Given the description of an element on the screen output the (x, y) to click on. 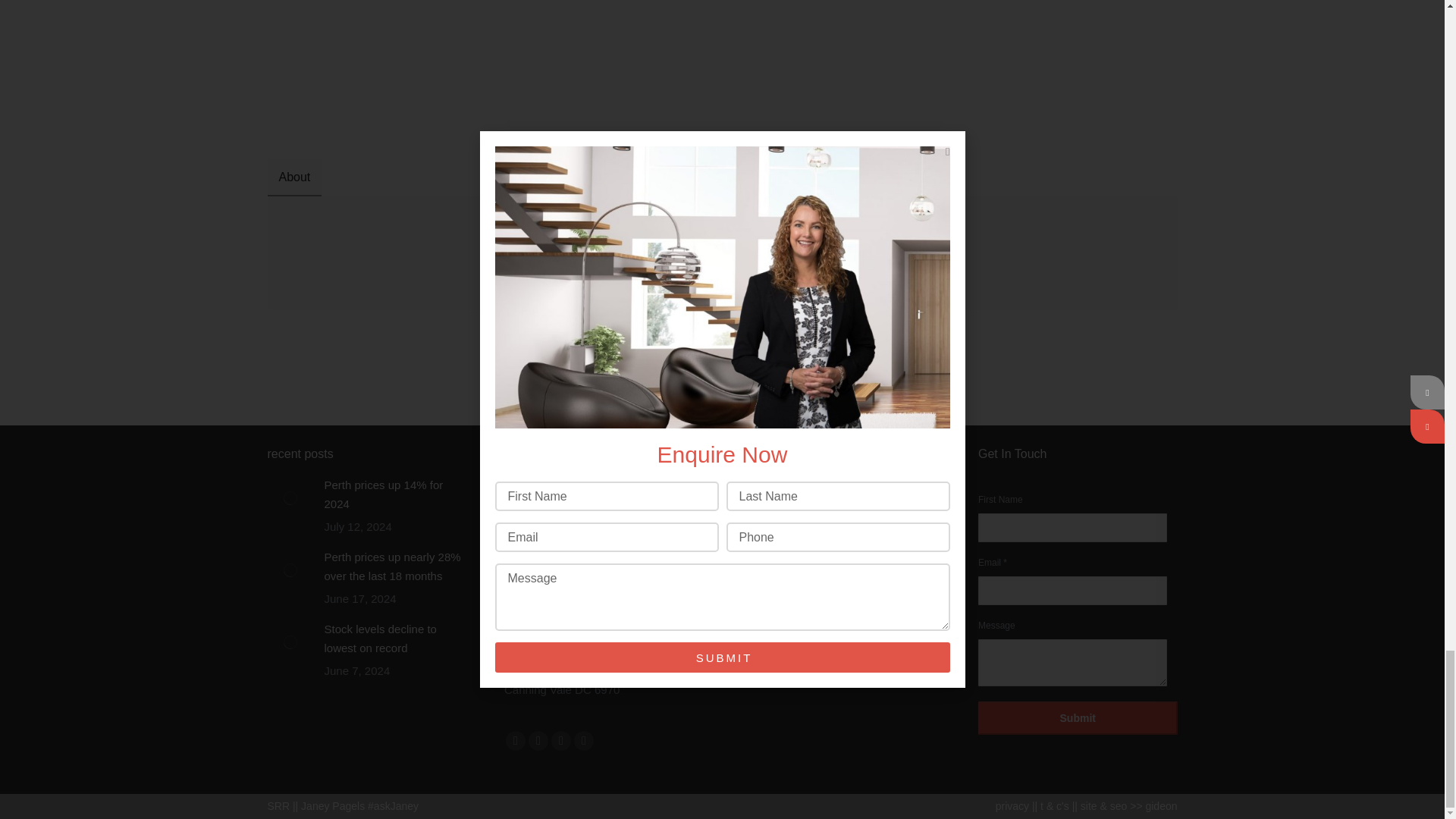
Submit (1077, 717)
